Given the description of an element on the screen output the (x, y) to click on. 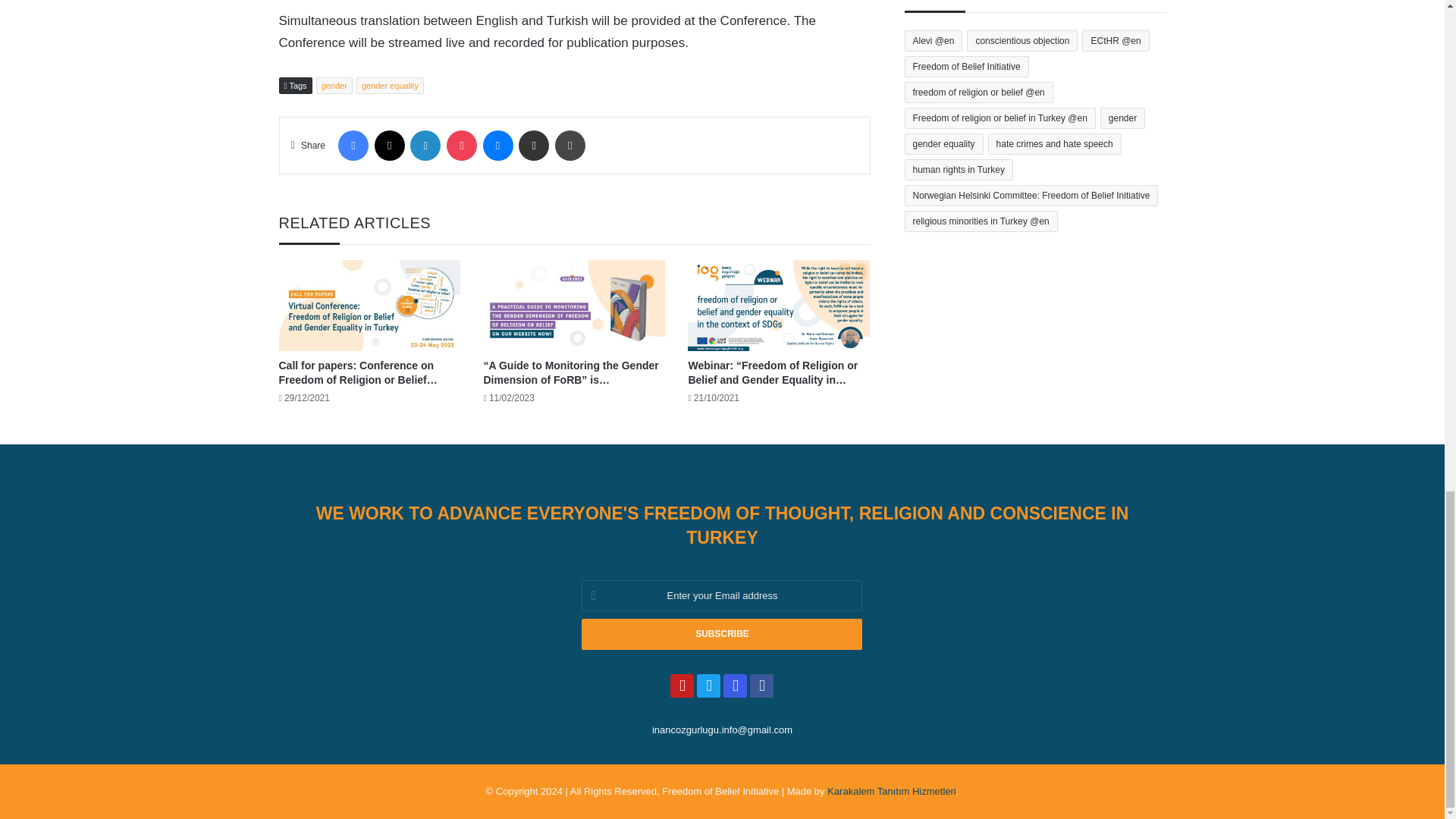
Pocket (461, 145)
Facebook (352, 145)
Subscribe (720, 634)
X (389, 145)
Print (569, 145)
Messenger (496, 145)
Share via Email (533, 145)
YouTube (681, 685)
LinkedIn (425, 145)
